Given the description of an element on the screen output the (x, y) to click on. 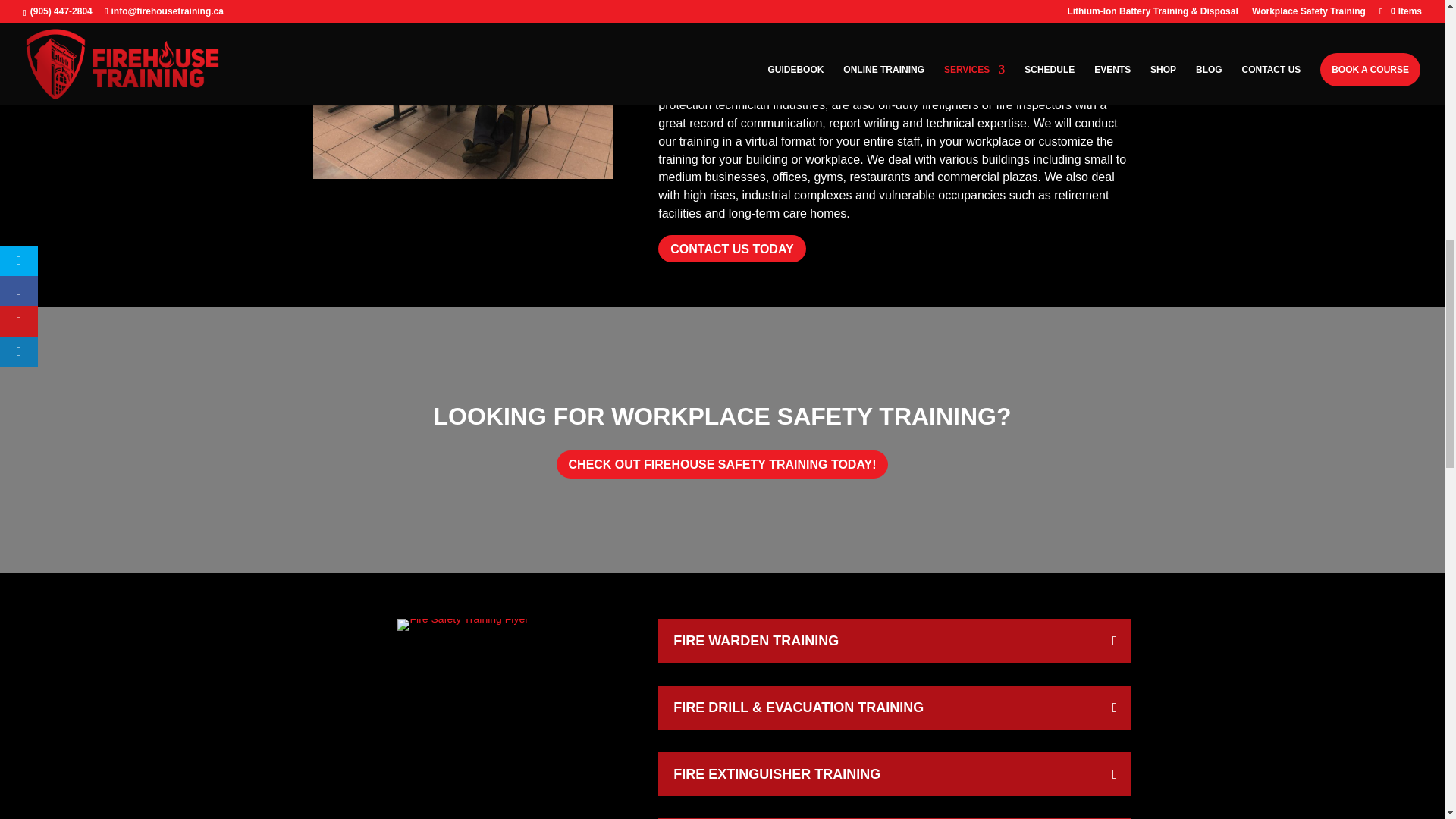
Fire Safety Training Flyer (462, 618)
General-Workplace-Fire-Safety-Flyer (462, 624)
CONTACT US TODAY (731, 248)
CHECK OUT FIREHOUSE SAFETY TRAINING TODAY! (722, 464)
